Given the description of an element on the screen output the (x, y) to click on. 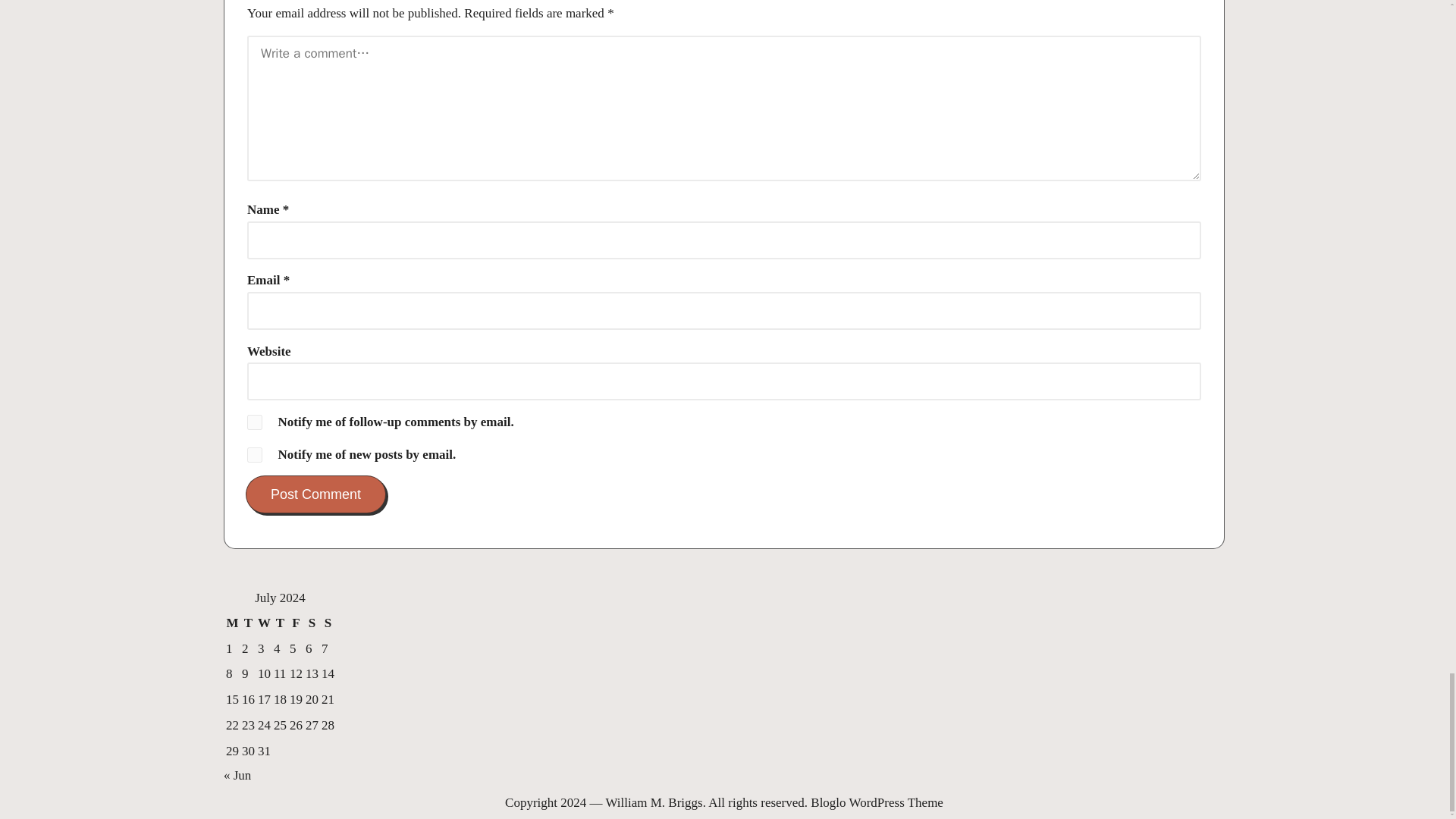
subscribe (254, 421)
Post Comment (315, 494)
subscribe (254, 454)
